Given the description of an element on the screen output the (x, y) to click on. 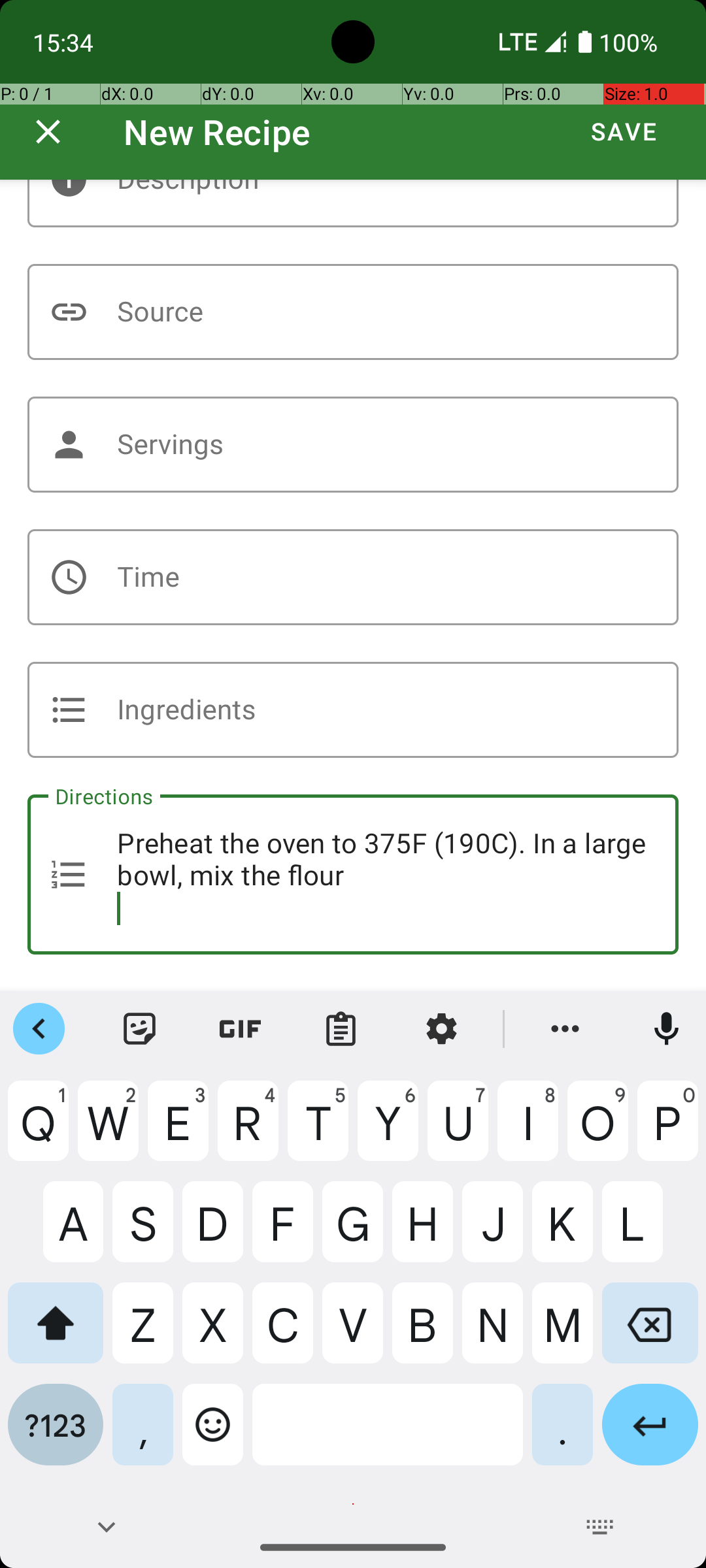
Preheat the oven to 375F (190C). In a large bowl, mix the flour
 Element type: android.widget.EditText (352, 874)
